Given the description of an element on the screen output the (x, y) to click on. 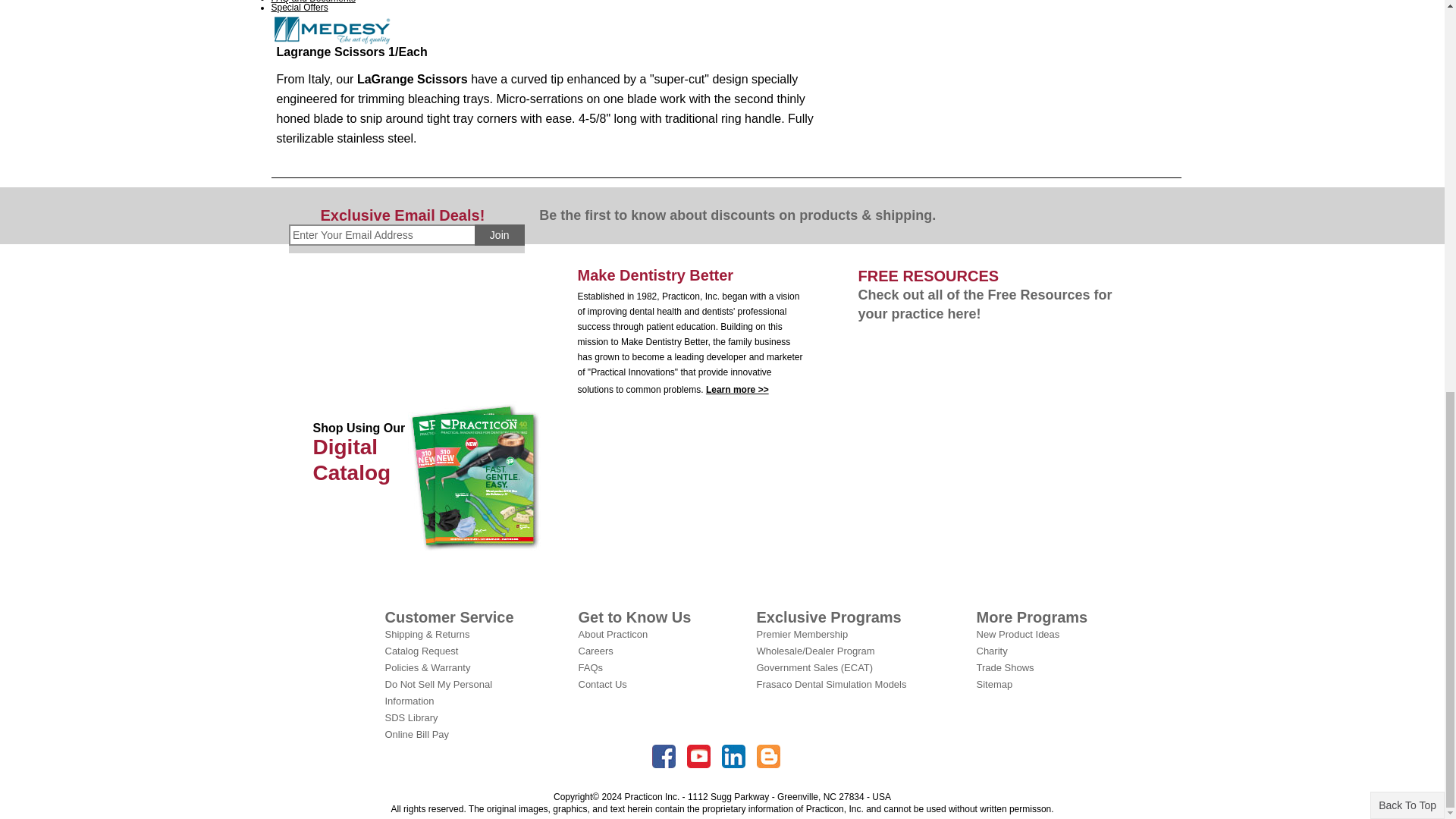
Join (499, 234)
Enter Your Email Address (384, 234)
